Given the description of an element on the screen output the (x, y) to click on. 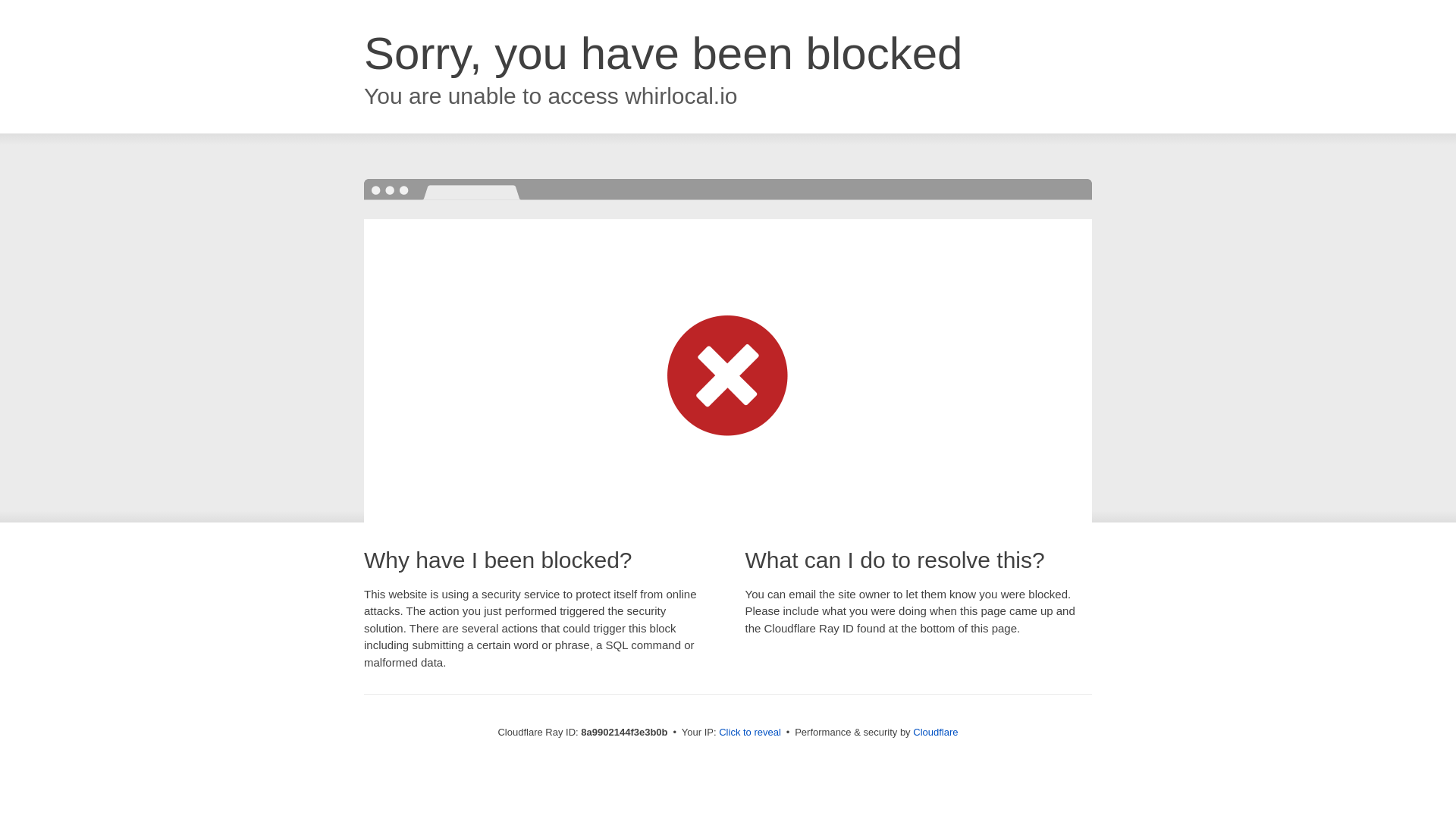
Click to reveal (749, 732)
Cloudflare (935, 731)
